Given the description of an element on the screen output the (x, y) to click on. 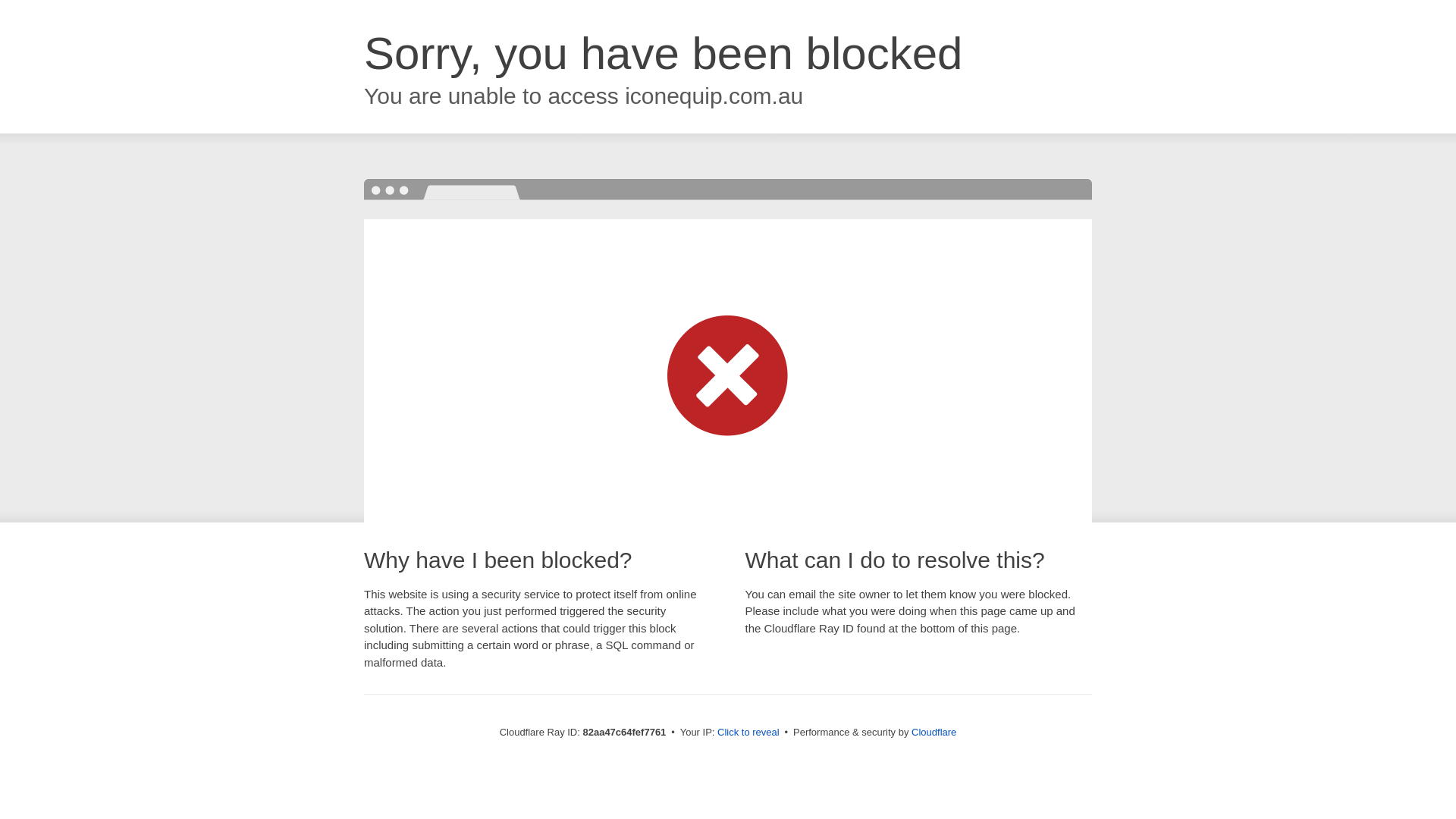
Cloudflare Element type: text (933, 731)
Click to reveal Element type: text (748, 732)
